Given the description of an element on the screen output the (x, y) to click on. 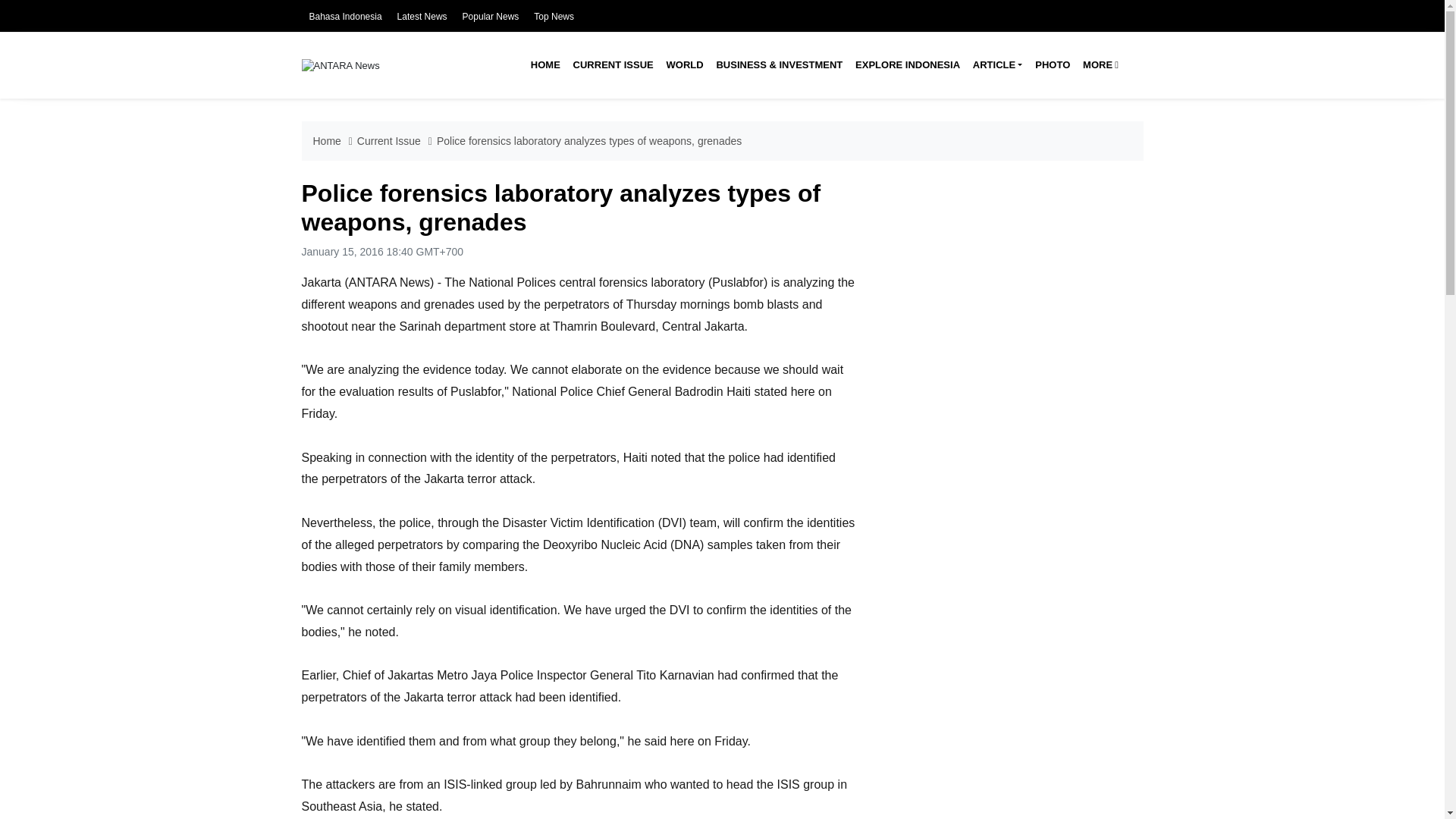
WORLD (684, 64)
Bahasa Indonesia (344, 16)
Latest News (421, 16)
Article (996, 64)
ANTARA News (340, 64)
CURRENT ISSUE (612, 64)
MORE (1101, 64)
Top News (553, 16)
Popular News (491, 16)
EXPLORE INDONESIA (907, 64)
Current Issue (612, 64)
Photo (1053, 64)
PHOTO (1053, 64)
Top News (553, 16)
Explore Indonesia (907, 64)
